Given the description of an element on the screen output the (x, y) to click on. 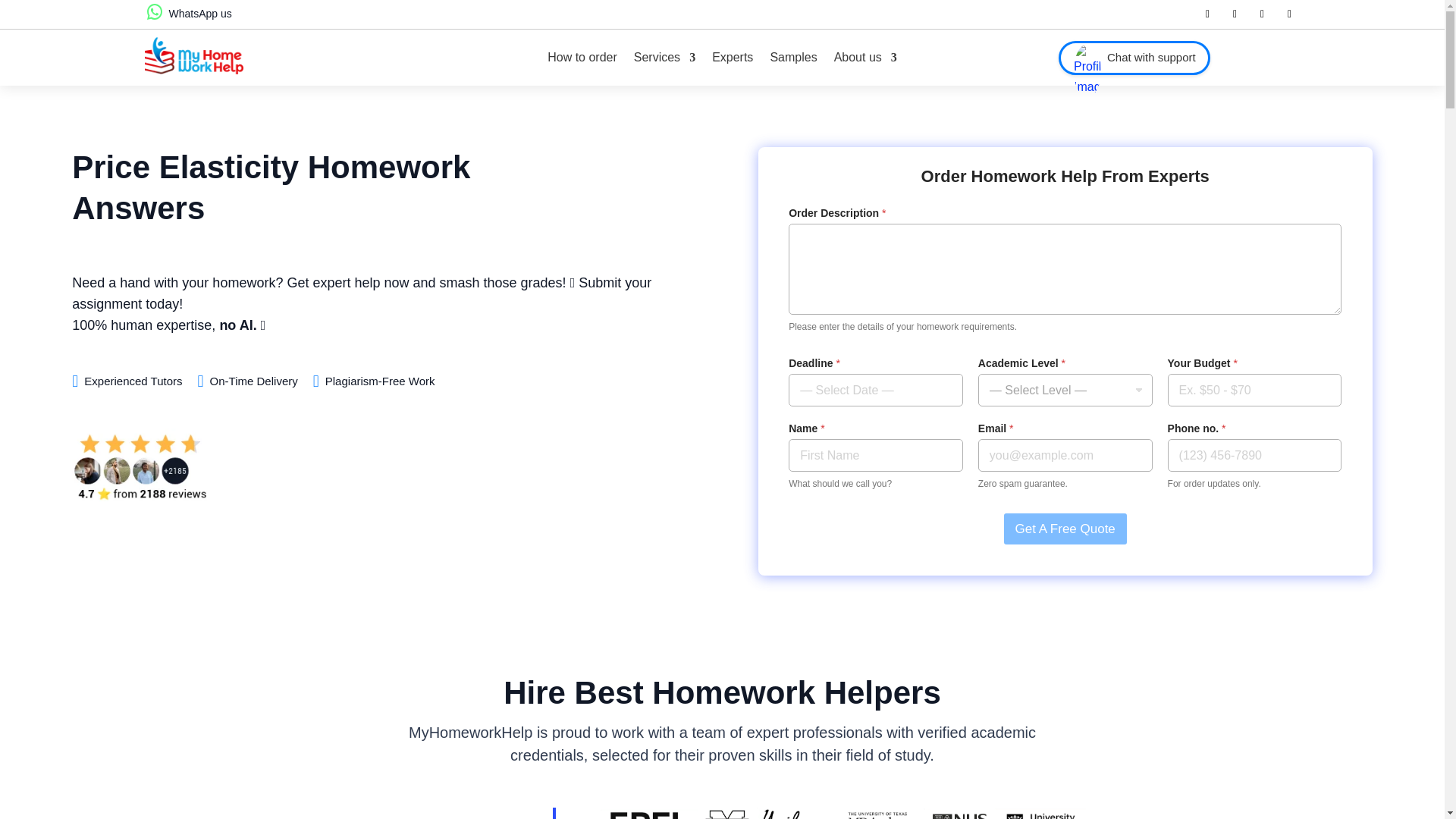
How to order (582, 57)
Follow on Instagram (1289, 14)
Follow on X (1234, 14)
Follow on LinkedIn (1261, 14)
univ logos-2 (964, 813)
Hero-Logo (193, 55)
Follow on Facebook (1206, 14)
social reviews (139, 467)
univ logos-1 (721, 813)
Services (664, 57)
